Given the description of an element on the screen output the (x, y) to click on. 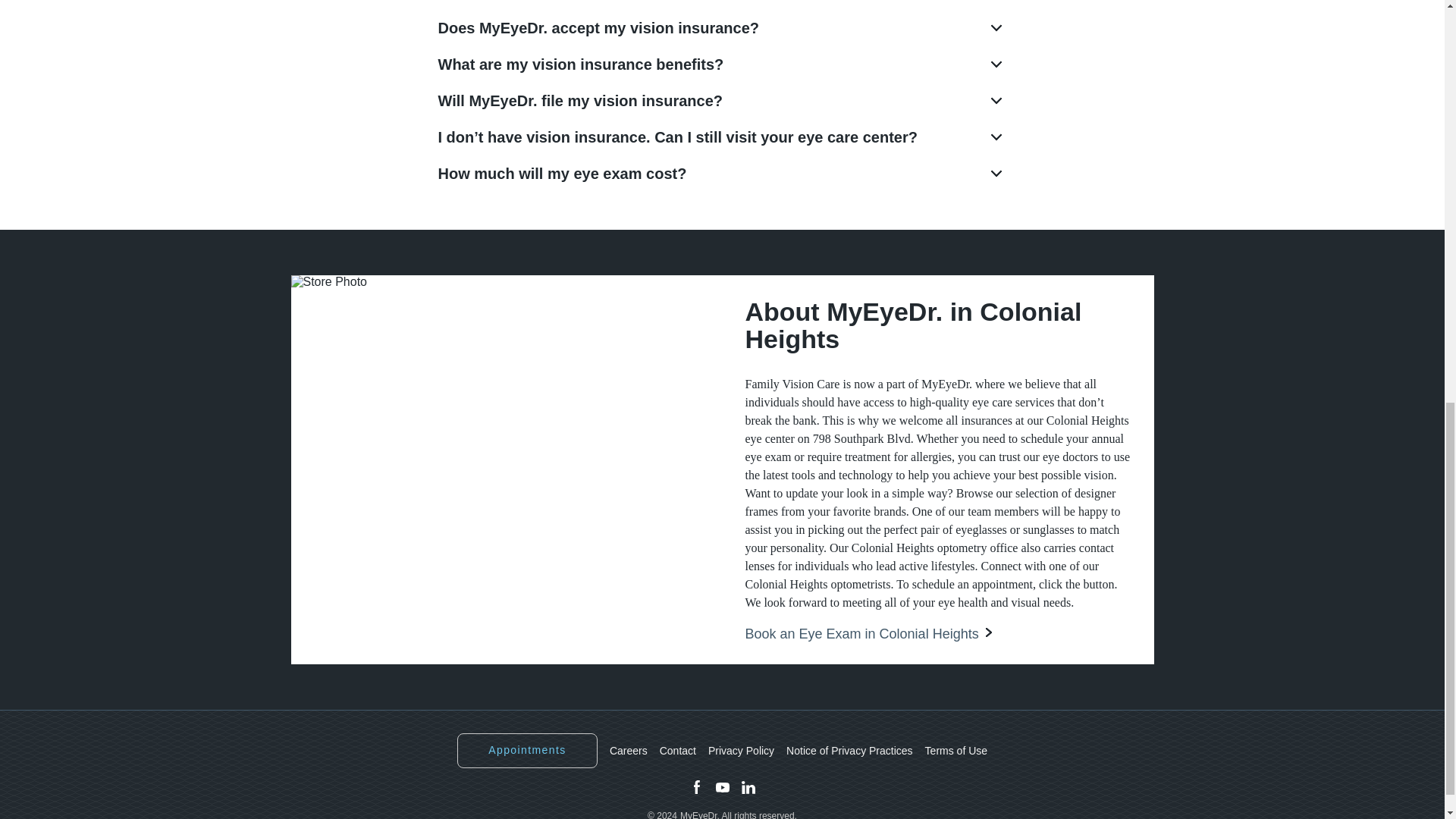
What are my vision insurance benefits? (722, 64)
How much will my eye exam cost? (722, 173)
Does MyEyeDr. accept my vision insurance? (722, 27)
Will MyEyeDr. file my vision insurance? (722, 100)
